Given the description of an element on the screen output the (x, y) to click on. 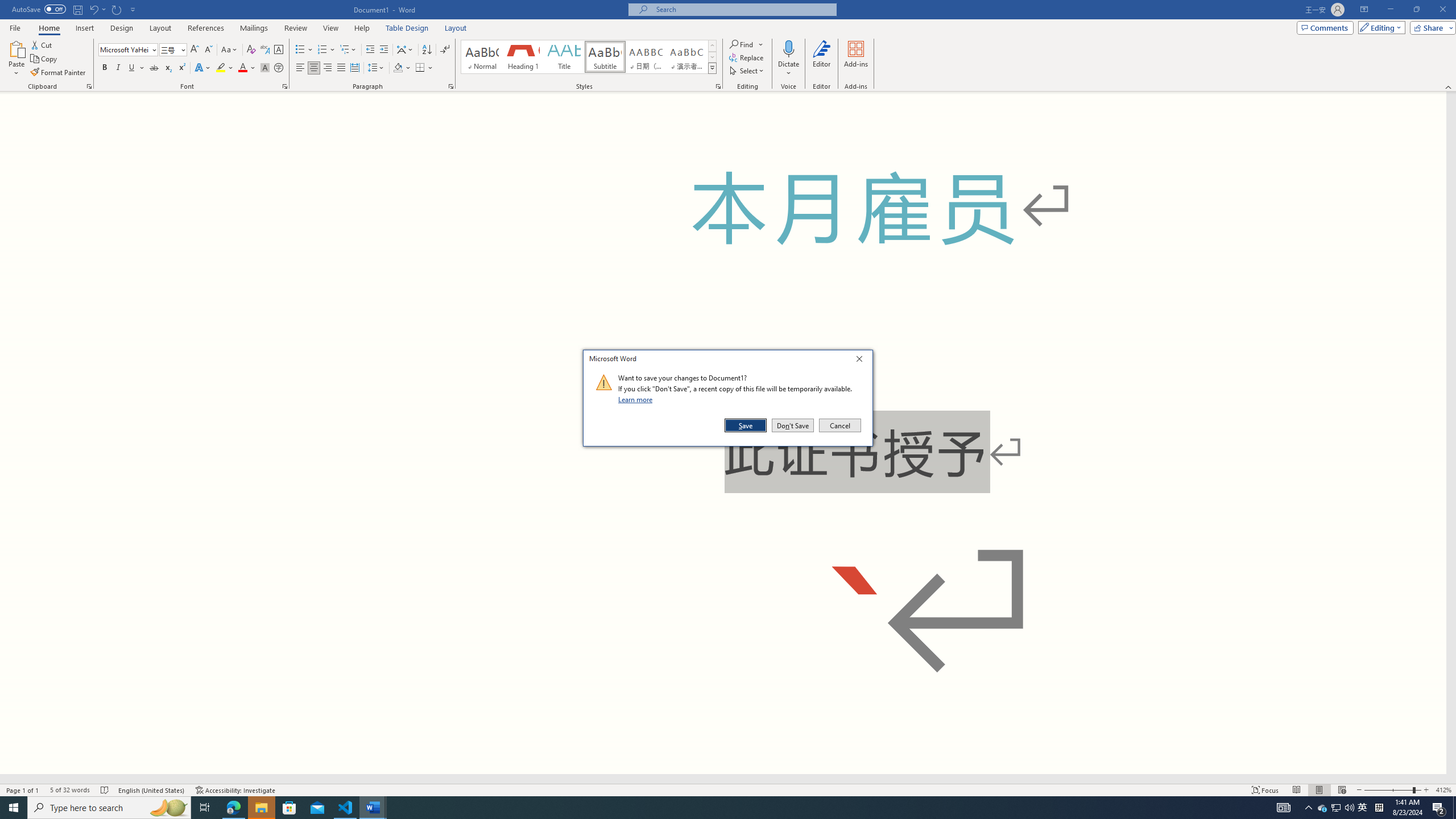
Text Effects and Typography (202, 67)
Class: MsoCommandBar (728, 45)
Heading 1 (522, 56)
Decrease Indent (370, 49)
Title (564, 56)
Center (313, 67)
Accessibility Checker Accessibility: Investigate (235, 790)
Learn more (636, 399)
